Given the description of an element on the screen output the (x, y) to click on. 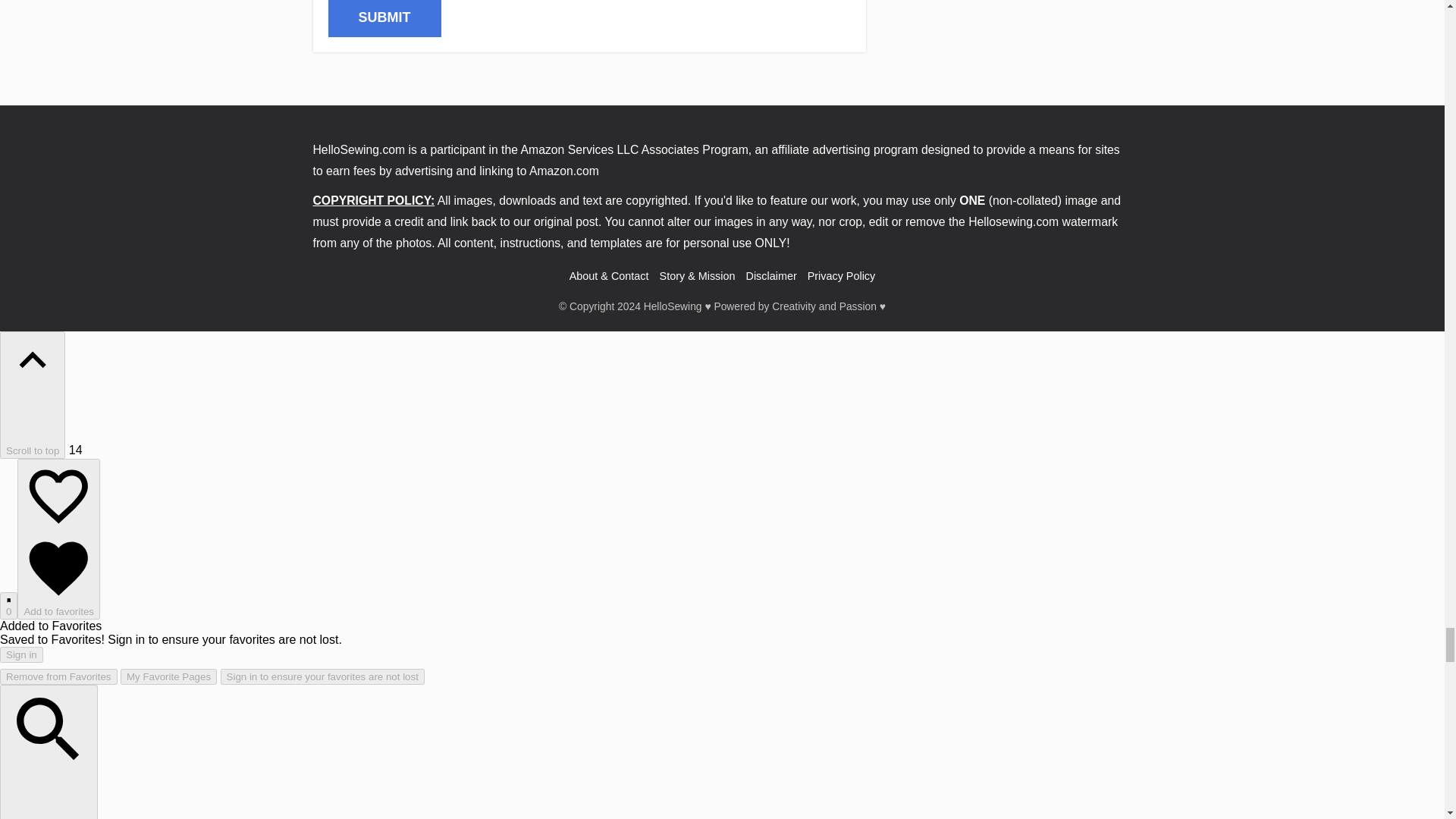
SUBMIT (384, 18)
